Given the description of an element on the screen output the (x, y) to click on. 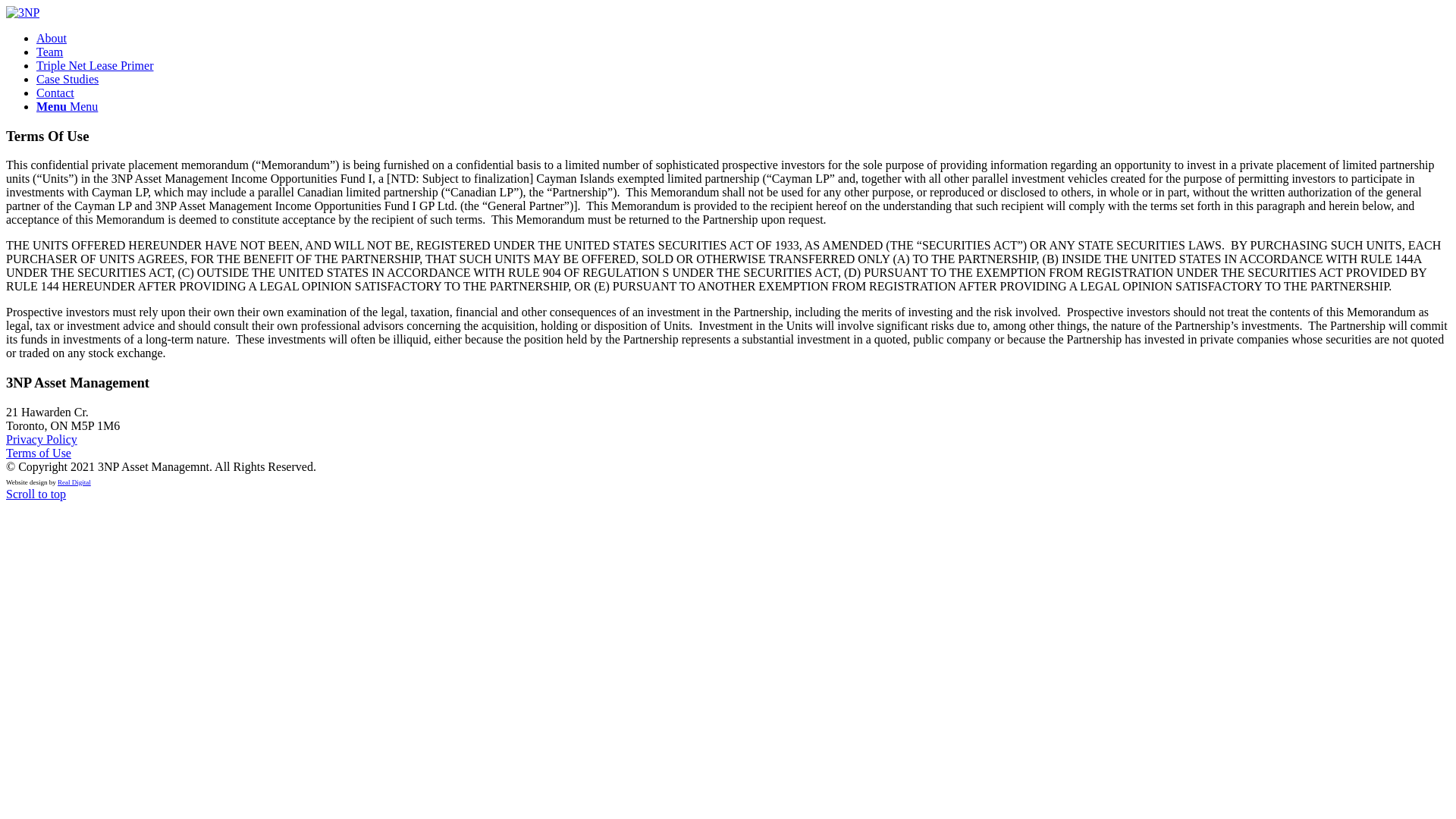
Triple Net Lease Primer Element type: text (94, 65)
Real Digital Element type: text (74, 482)
Terms of Use Element type: text (38, 452)
About Element type: text (51, 37)
Case Studies Element type: text (67, 78)
Team Element type: text (49, 51)
Contact Element type: text (55, 92)
Menu Menu Element type: text (66, 106)
Privacy Policy Element type: text (41, 439)
3np_logo Element type: hover (22, 12)
Scroll to top Element type: text (35, 493)
